Given the description of an element on the screen output the (x, y) to click on. 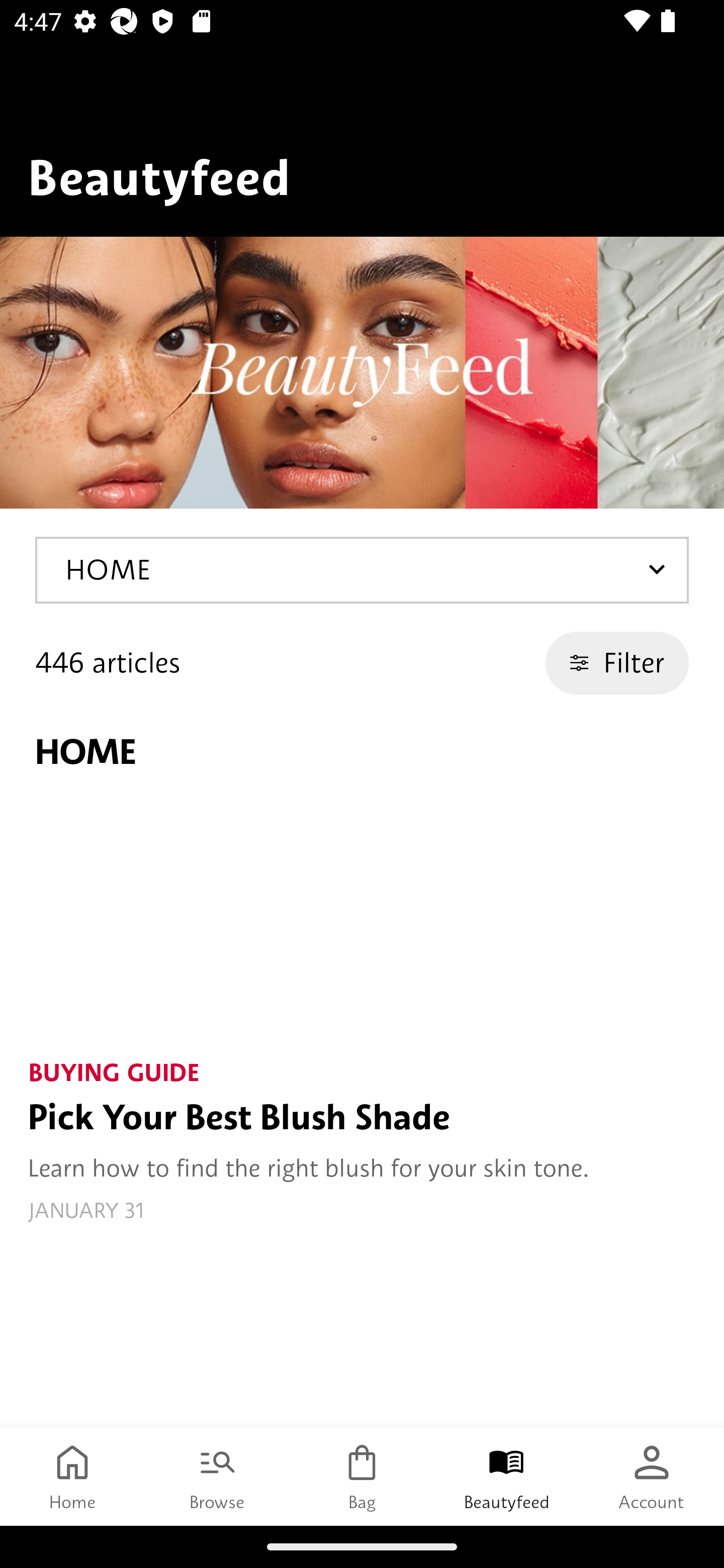
HOME (361, 570)
Filter (616, 662)
Home (72, 1475)
Browse (216, 1475)
Bag (361, 1475)
Account (651, 1475)
